Given the description of an element on the screen output the (x, y) to click on. 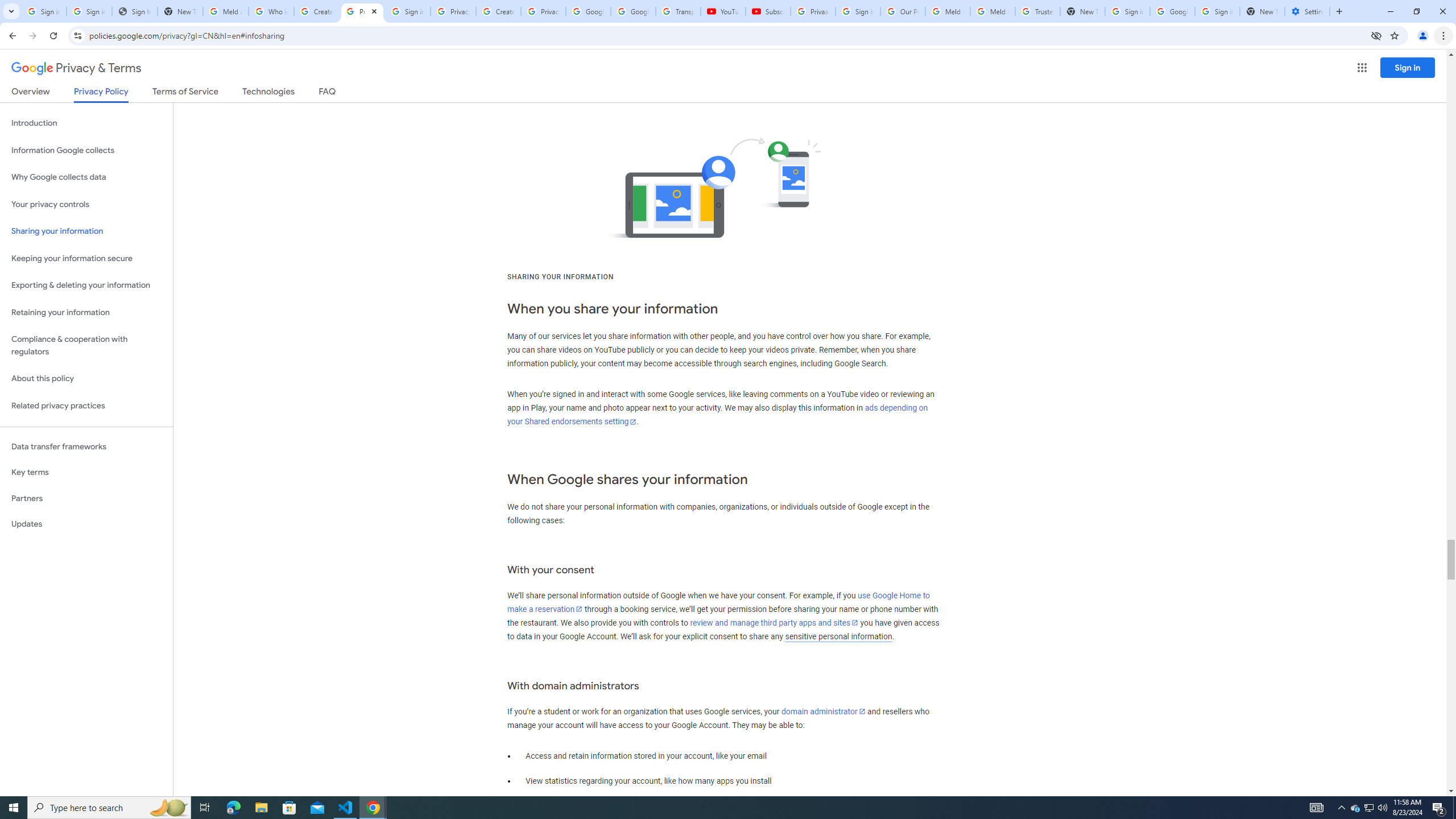
Sign in - Google Accounts (88, 11)
Data transfer frameworks (86, 446)
Sharing your information (86, 230)
Exporting & deleting your information (86, 284)
Sign In - USA TODAY (134, 11)
ads depending on your Shared endorsements setting (717, 414)
About this policy (86, 379)
Google Cybersecurity Innovations - Google Safety Center (1171, 11)
sensitive personal information (838, 636)
